Given the description of an element on the screen output the (x, y) to click on. 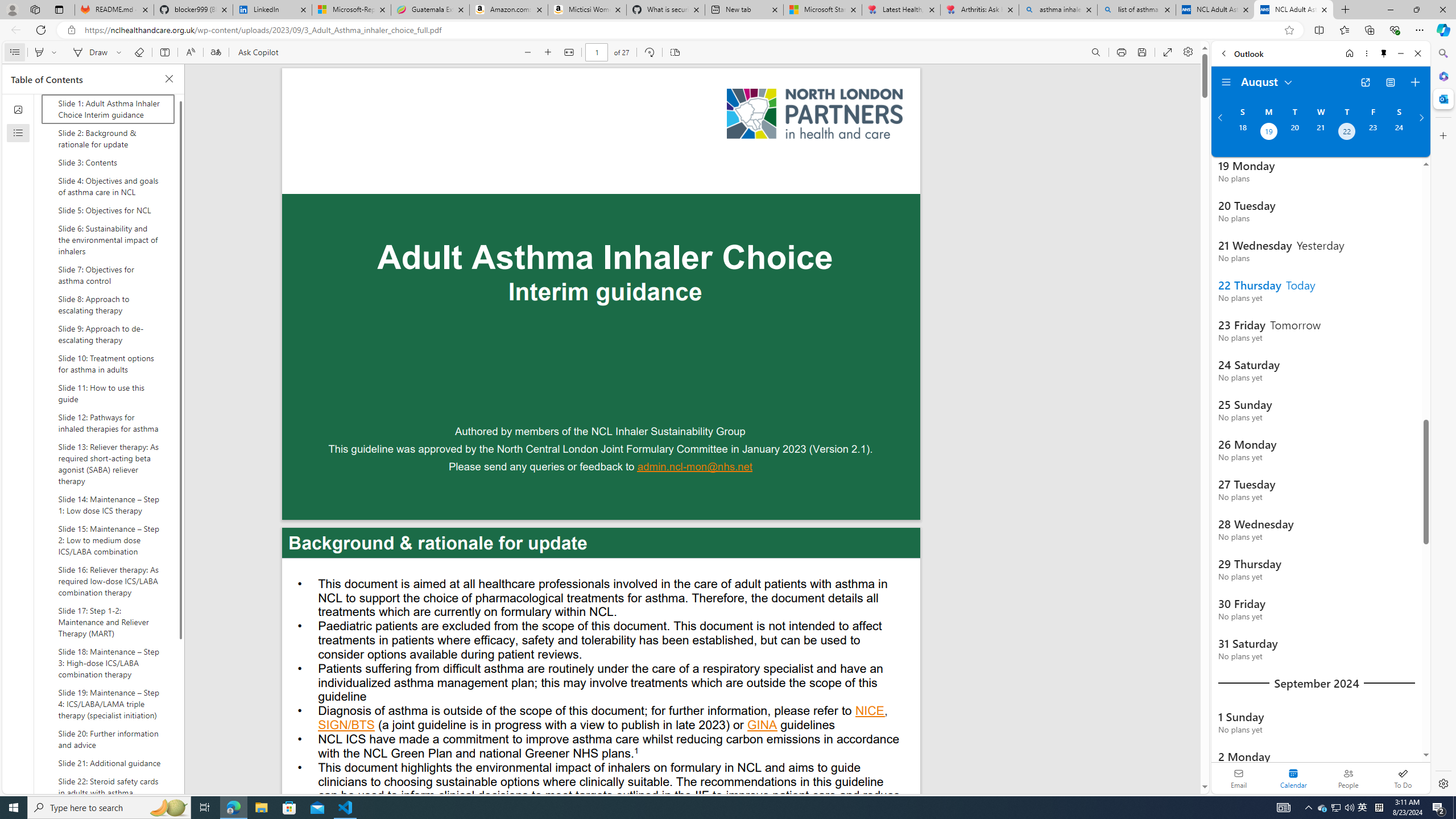
August (1267, 80)
Saturday, August 24, 2024.  (1399, 132)
Selected calendar module. Date today is 22 (1293, 777)
Erase (138, 52)
Tuesday, August 20, 2024.  (1294, 132)
Ask Copilot (257, 52)
Page number (596, 52)
Select ink properties (120, 52)
SIGN/BTS (346, 726)
